Given the description of an element on the screen output the (x, y) to click on. 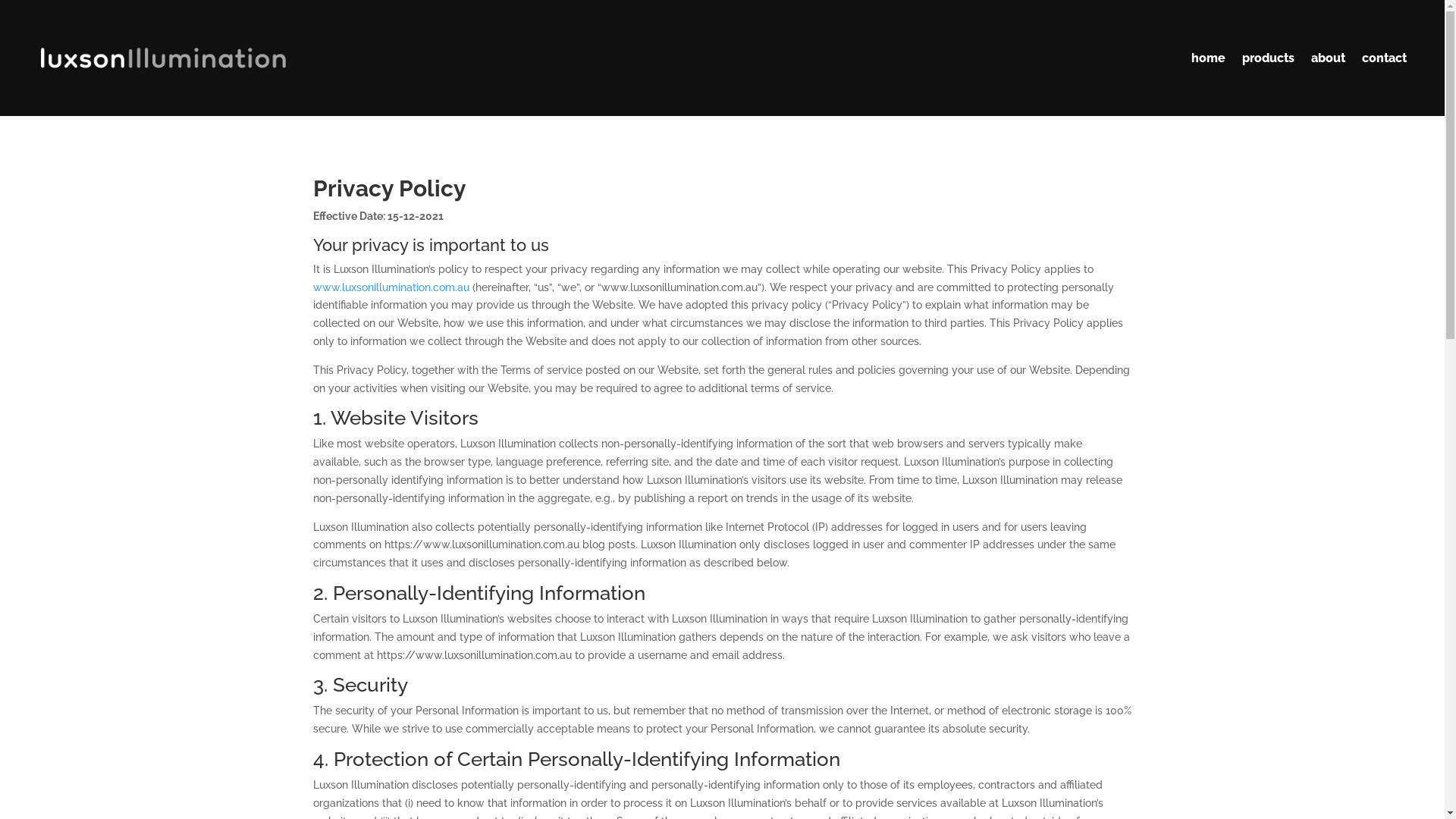
home Element type: text (1208, 57)
products Element type: text (1268, 57)
about Element type: text (1328, 57)
www.luxsonillumination.com.au Element type: text (390, 287)
contact Element type: text (1383, 57)
